Given the description of an element on the screen output the (x, y) to click on. 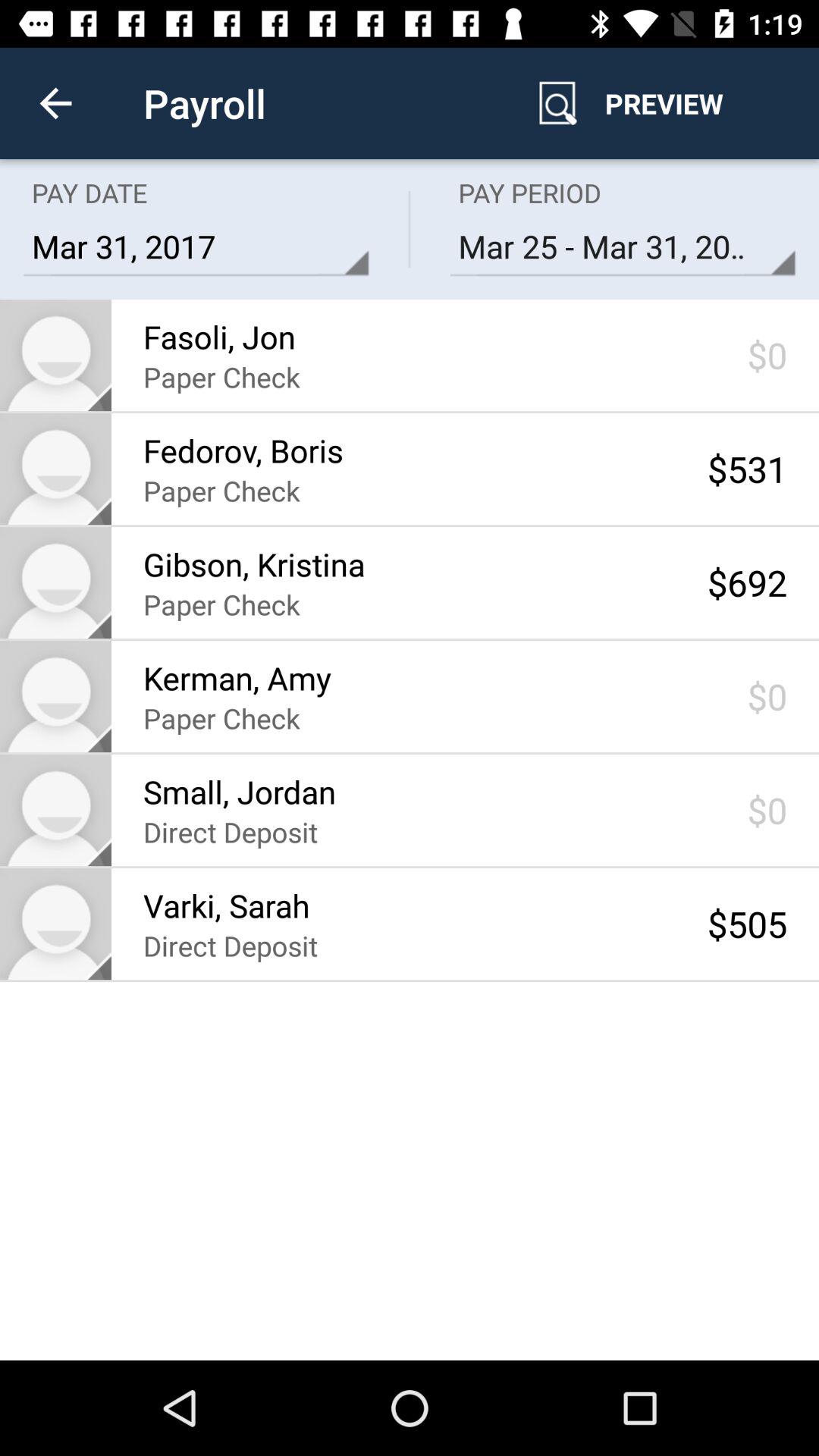
view profile of user (55, 923)
